Given the description of an element on the screen output the (x, y) to click on. 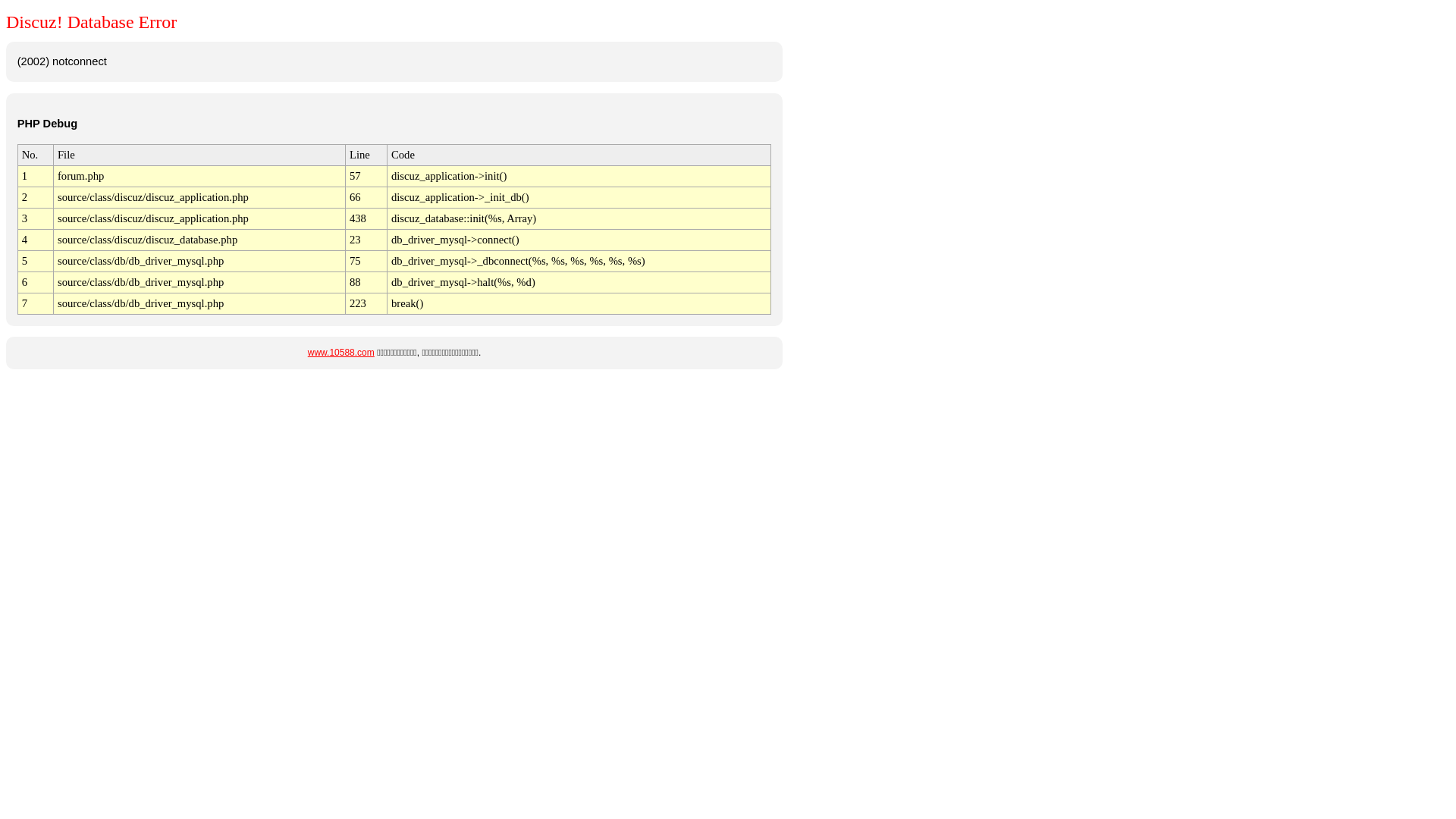
www.10588.com Element type: text (340, 352)
